Given the description of an element on the screen output the (x, y) to click on. 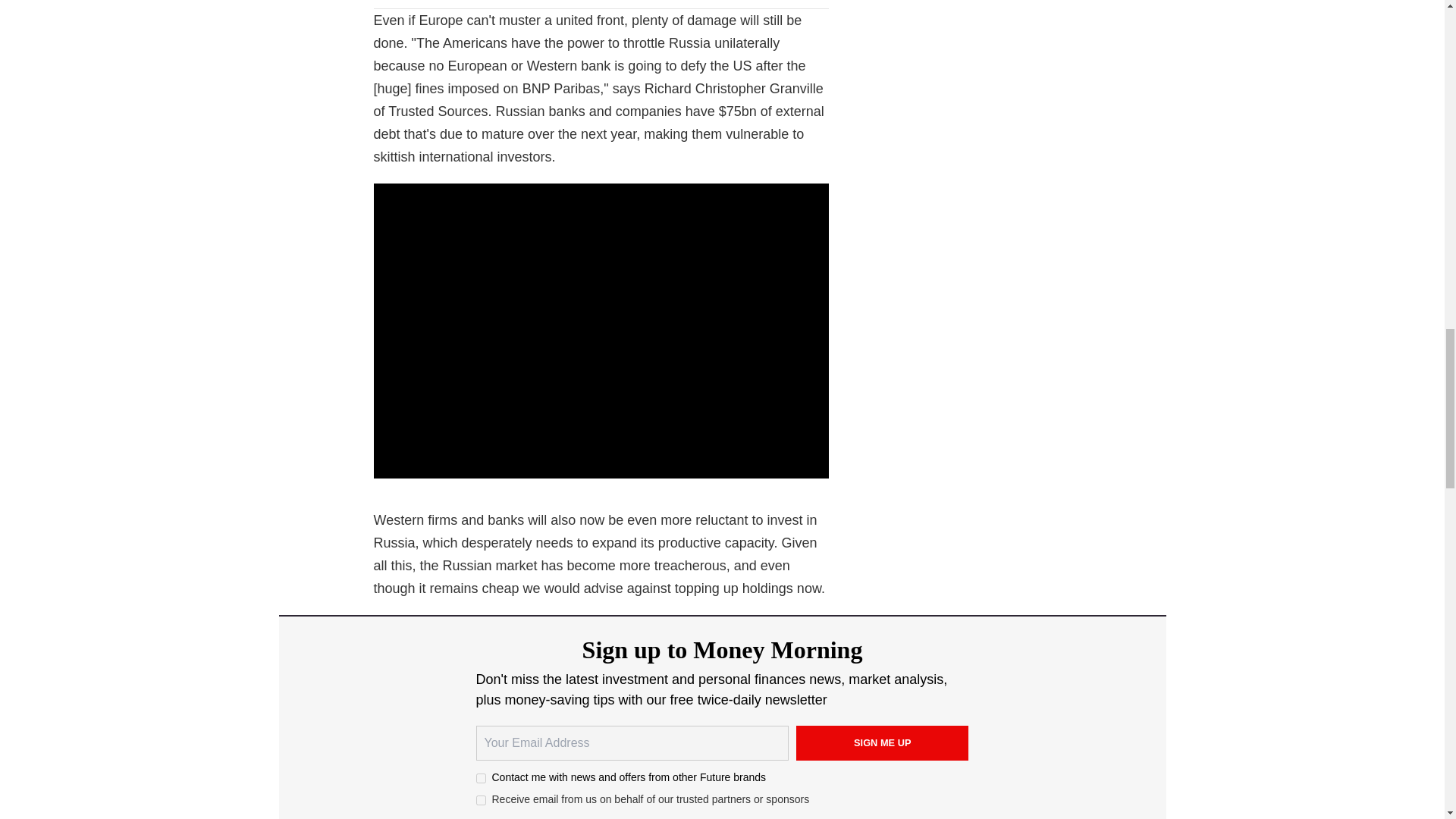
Sign me up (882, 742)
on (481, 777)
on (481, 800)
